Given the description of an element on the screen output the (x, y) to click on. 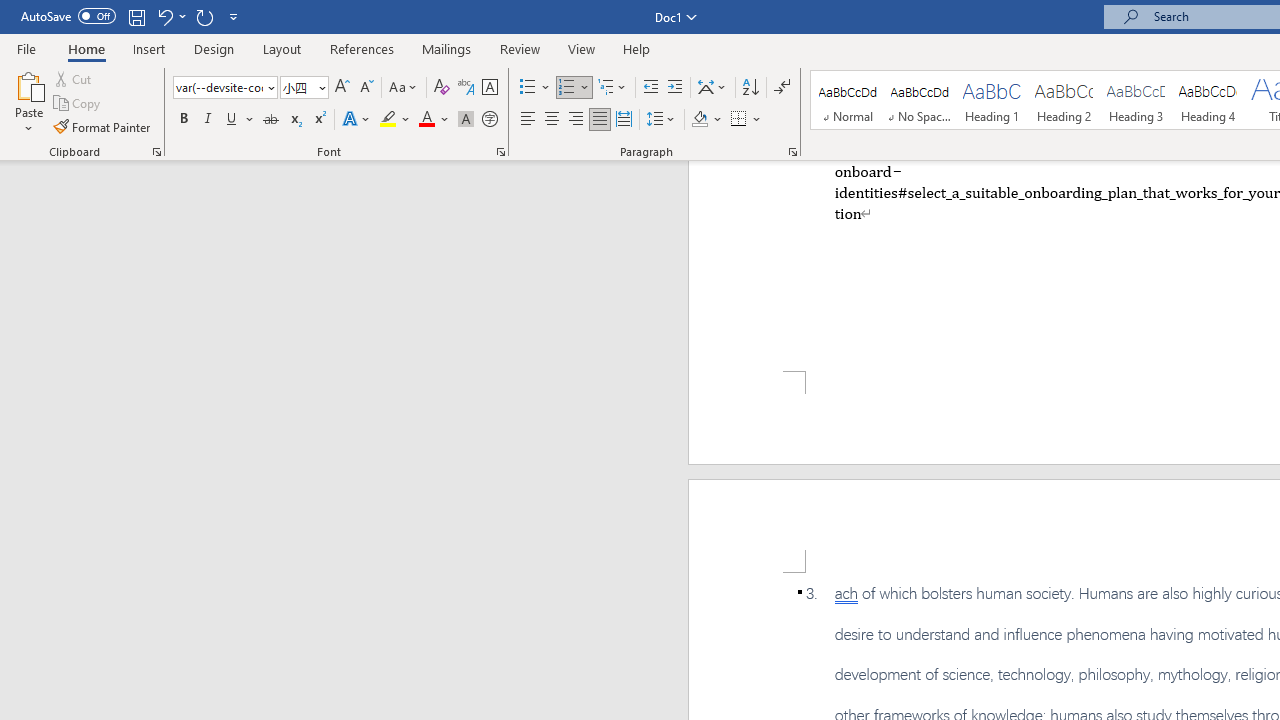
Quick Access Toolbar (131, 16)
Undo Apply Quick Style (164, 15)
Font Size (304, 87)
Superscript (319, 119)
References (362, 48)
